Given the description of an element on the screen output the (x, y) to click on. 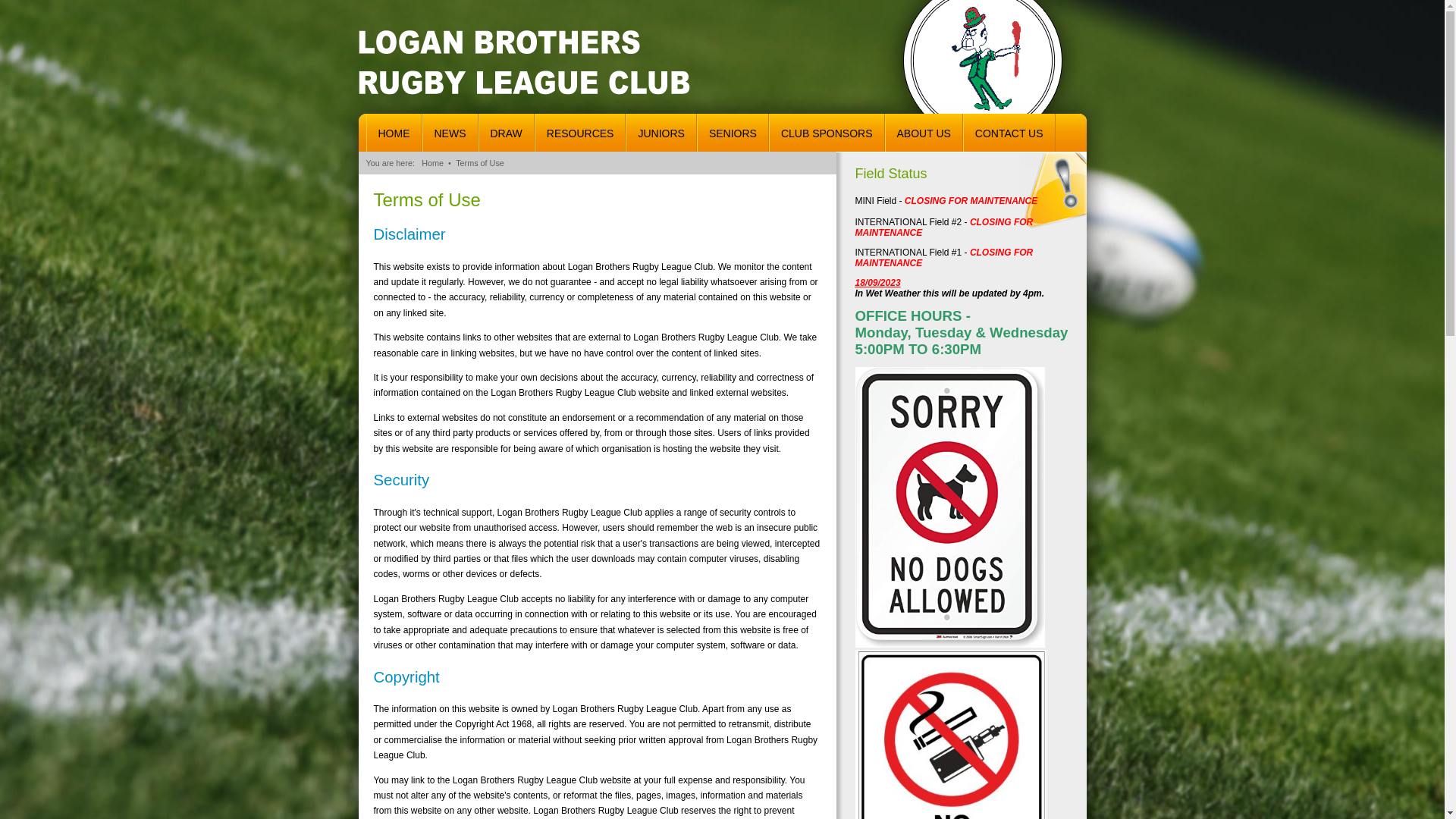
CLUB SPONSORS Element type: text (826, 132)
HOME Element type: text (394, 132)
Home Element type: text (432, 162)
CONTACT US Element type: text (1008, 132)
SENIORS Element type: text (732, 132)
RESOURCES Element type: text (580, 132)
ABOUT US Element type: text (923, 132)
JUNIORS Element type: text (660, 132)
NEWS Element type: text (450, 132)
DRAW Element type: text (506, 132)
